Given the description of an element on the screen output the (x, y) to click on. 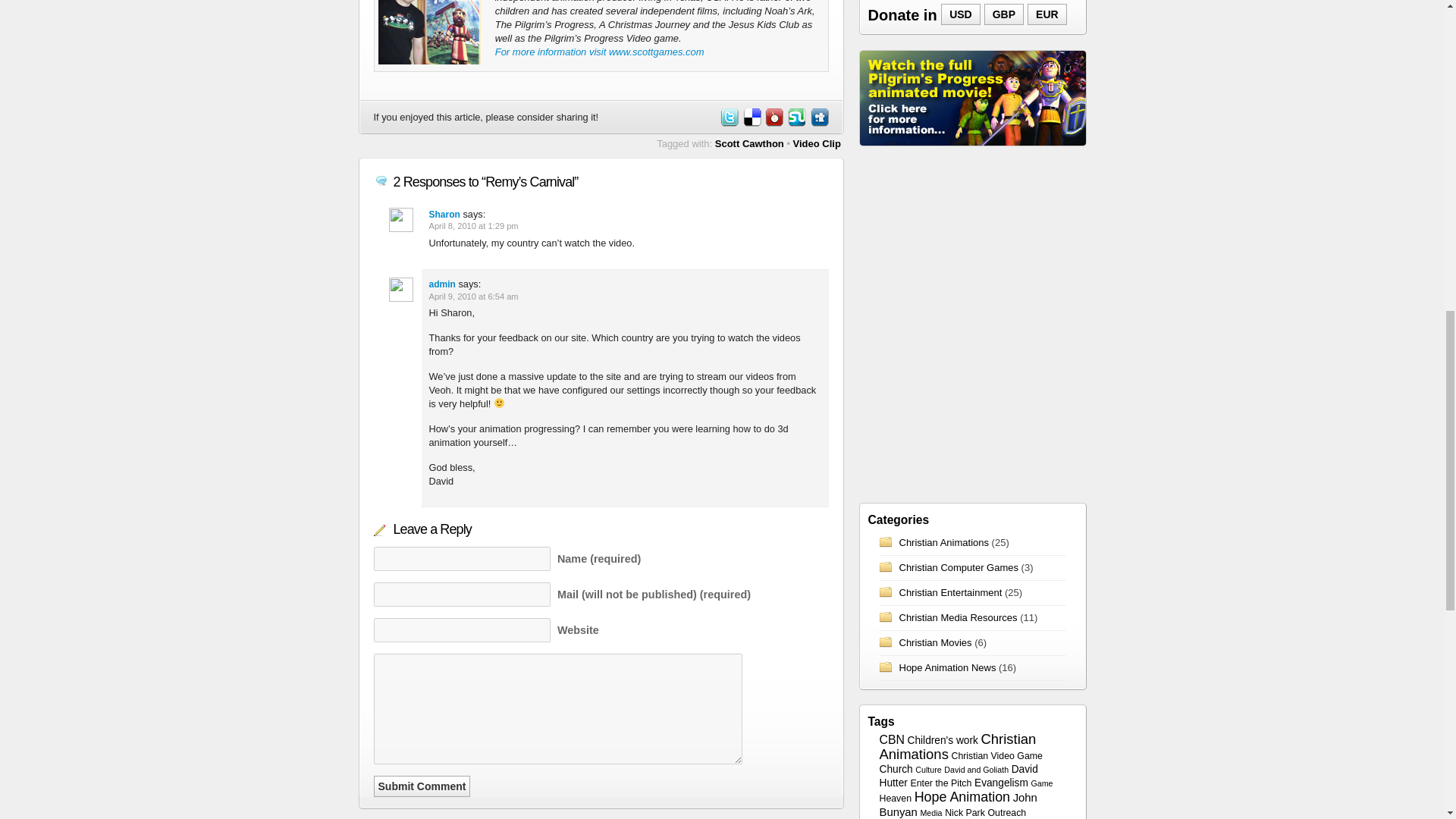
Bookmark at StumbleUpon (796, 123)
Post At Twitter (728, 123)
Submit Comment (421, 785)
Bookmark at Digg (818, 123)
Bookmark at Mixx (772, 123)
Scott Cawton (428, 32)
For more information visit www.scottgames.com (599, 51)
Bookmark at Delicious (751, 123)
